Given the description of an element on the screen output the (x, y) to click on. 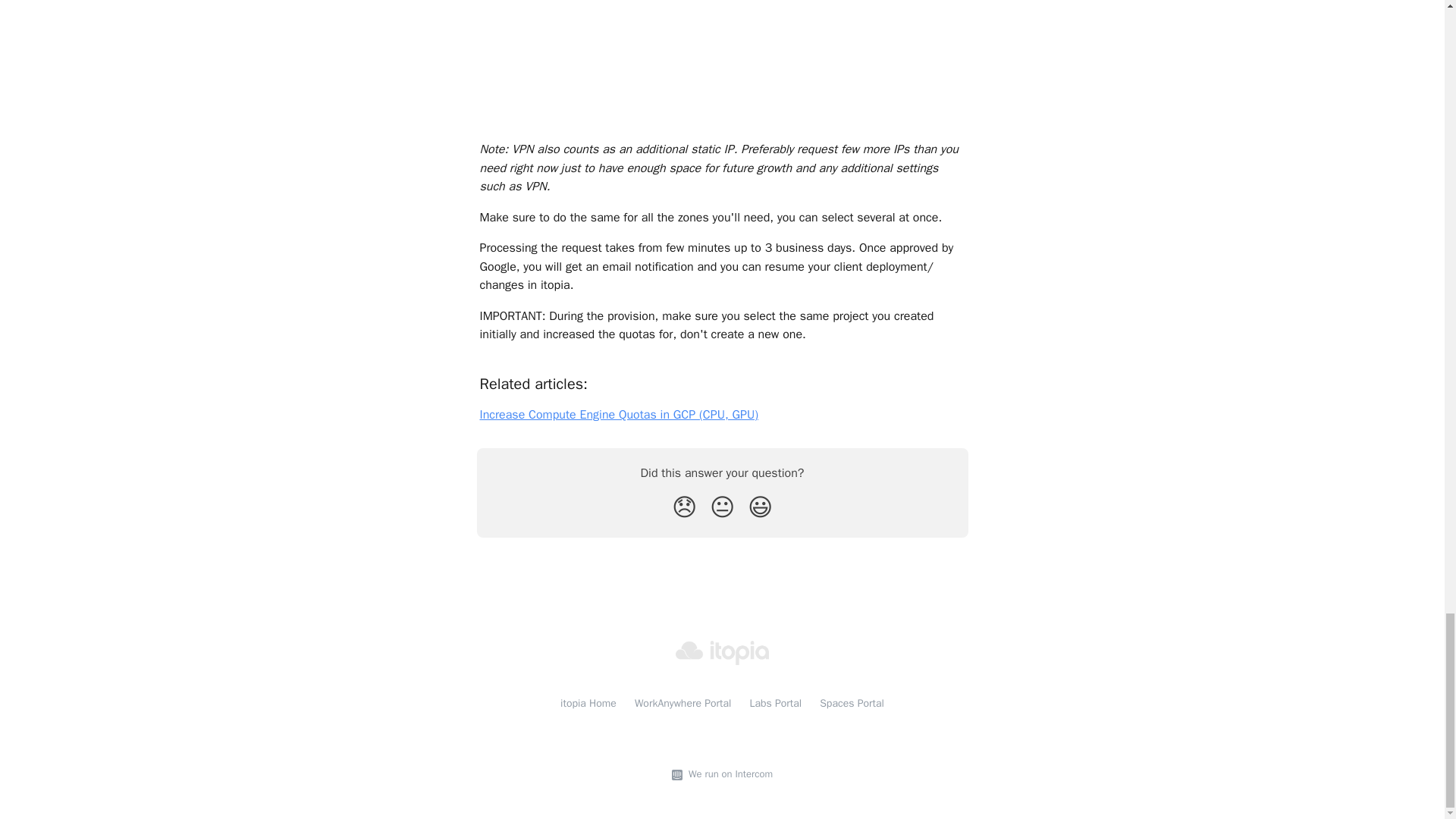
WorkAnywhere Portal (683, 703)
Disappointed (684, 507)
itopia Home (587, 703)
Neutral (722, 507)
Labs Portal (775, 703)
Spaces Portal (851, 703)
Smiley (760, 507)
We run on Intercom (727, 774)
